Given the description of an element on the screen output the (x, y) to click on. 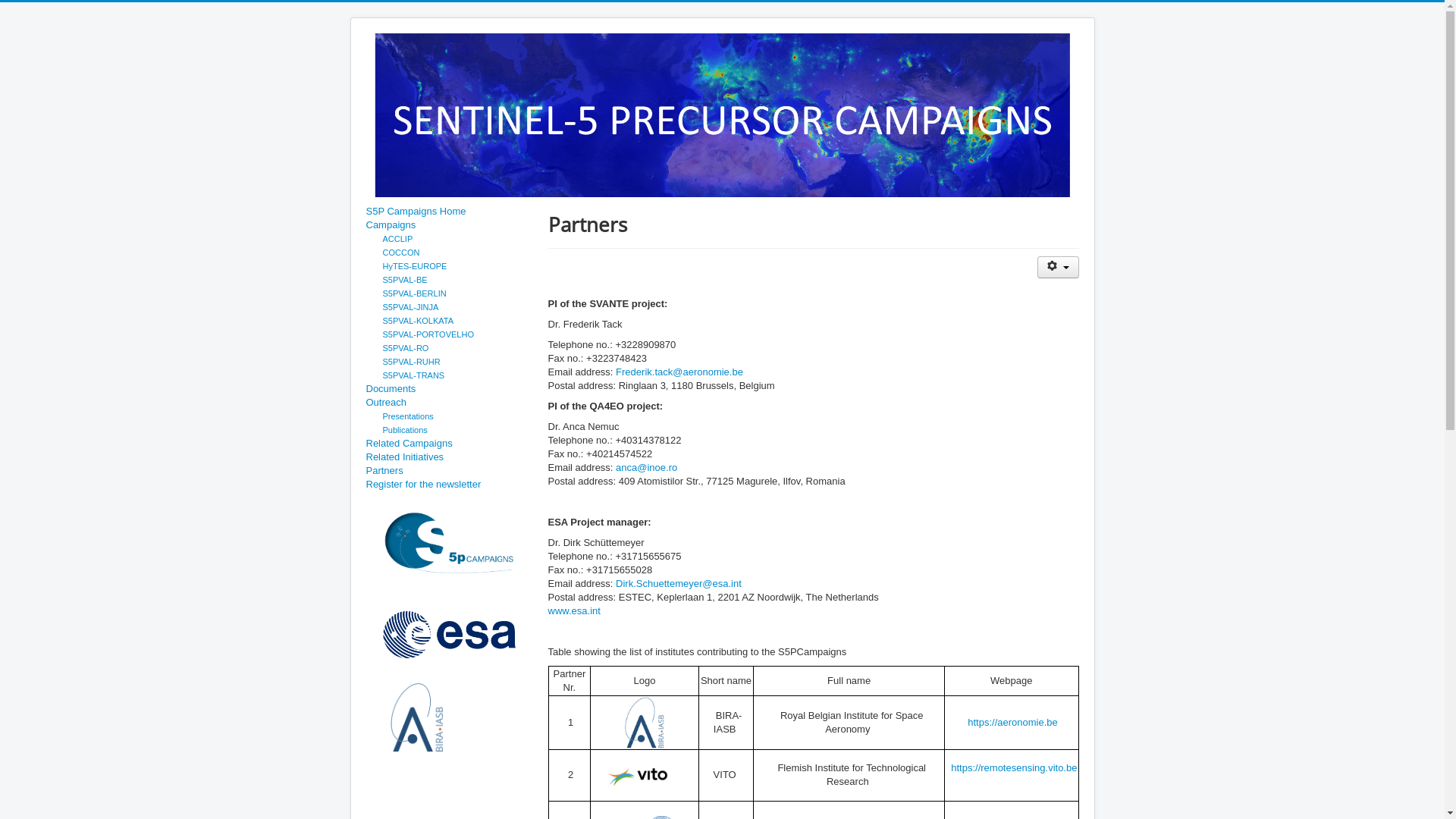
S5PVAL-TRANS Element type: text (413, 374)
https://aeronomie.be  Element type: text (1013, 722)
Presentations Element type: text (407, 415)
S5PVAL-RO Element type: text (405, 347)
Partners Element type: text (448, 470)
anca@inoe.ro Element type: text (646, 467)
S5PVAL-PORTOVELHO Element type: text (427, 333)
www.esa.int Element type: text (573, 610)
Documents Element type: text (448, 388)
https://remotesensing.vito.be   Element type: text (1013, 774)
S5PVAL-BERLIN Element type: text (413, 293)
Frederik.tack@aeronomie.be Element type: text (679, 371)
  Element type: text (621, 721)
HyTES-EUROPE Element type: text (414, 265)
ACCLIP Element type: text (397, 238)
Outreach Element type: text (448, 402)
Related Initiatives Element type: text (448, 457)
Dirk.Schuettemeyer@esa.int Element type: text (678, 583)
Campaigns Element type: text (448, 225)
S5PVAL-RUHR Element type: text (410, 361)
S5PVAL-BE Element type: text (404, 279)
COCCON Element type: text (400, 252)
Publications Element type: text (404, 429)
S5PVAL-JINJA Element type: text (410, 306)
Register for the newsletter Element type: text (448, 484)
S5P Campaigns Home Element type: text (448, 211)
S5PVAL-KOLKATA Element type: text (417, 320)
Related Campaigns Element type: text (448, 443)
